Given the description of an element on the screen output the (x, y) to click on. 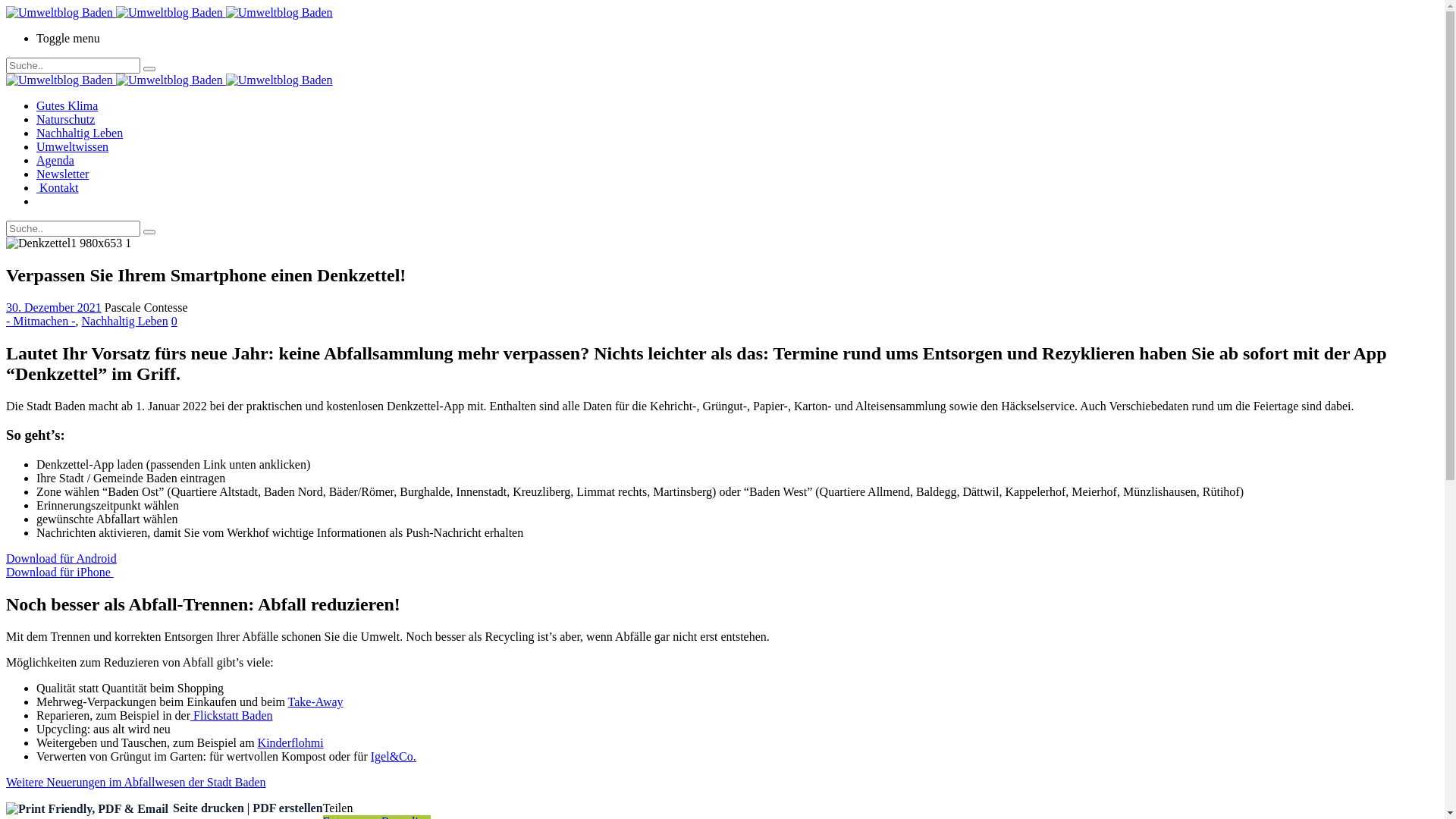
0 Element type: text (174, 320)
Gutes Klima Element type: text (66, 105)
Kinderflohmi Element type: text (290, 742)
Umweltwissen Element type: text (72, 146)
 Flickstatt Baden Element type: text (231, 715)
Toggle menu Element type: text (737, 38)
Agenda Element type: text (55, 159)
Igel&Co. Element type: text (393, 755)
Naturschutz Element type: text (65, 118)
Nachhaltig Leben Element type: text (124, 320)
 Kontakt Element type: text (57, 187)
30. Dezember 2021 Element type: text (53, 307)
Seite drucken | PDF erstellen Element type: text (164, 807)
- Mitmachen - Element type: text (40, 320)
Weitere Neuerungen im Abfallwesen der Stadt Baden Element type: text (136, 781)
Nachhaltig Leben Element type: text (79, 132)
Take-Away Element type: text (315, 701)
Newsletter Element type: text (62, 173)
